Given the description of an element on the screen output the (x, y) to click on. 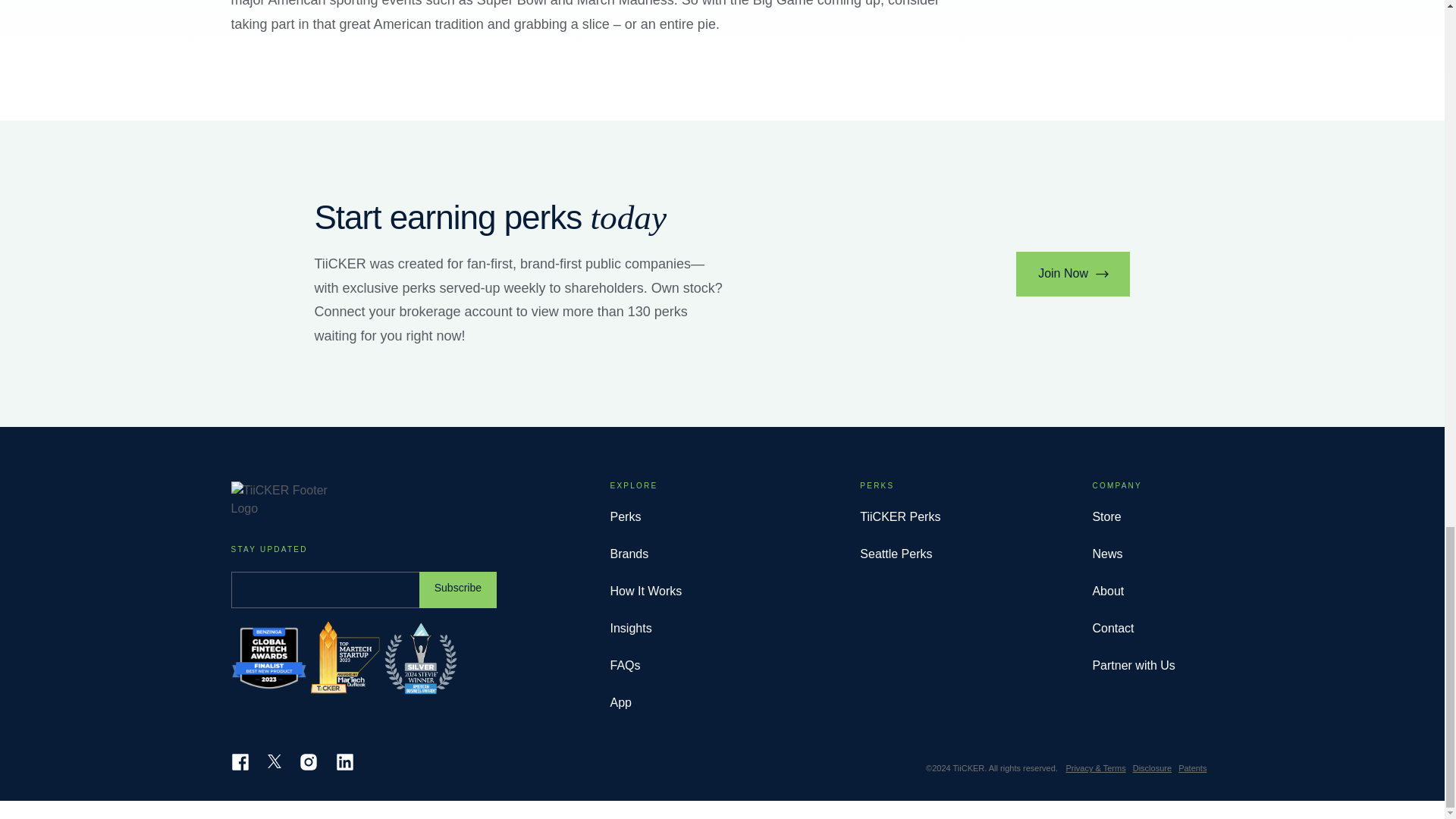
Subscribe (457, 590)
TiiCKER Perks (900, 516)
News (1133, 554)
Brands (645, 554)
FAQs (645, 665)
How It Works (645, 591)
Seattle Perks (900, 554)
Join Now (1073, 273)
App (645, 702)
Perks (645, 516)
Store (1133, 516)
Insights (645, 628)
